Given the description of an element on the screen output the (x, y) to click on. 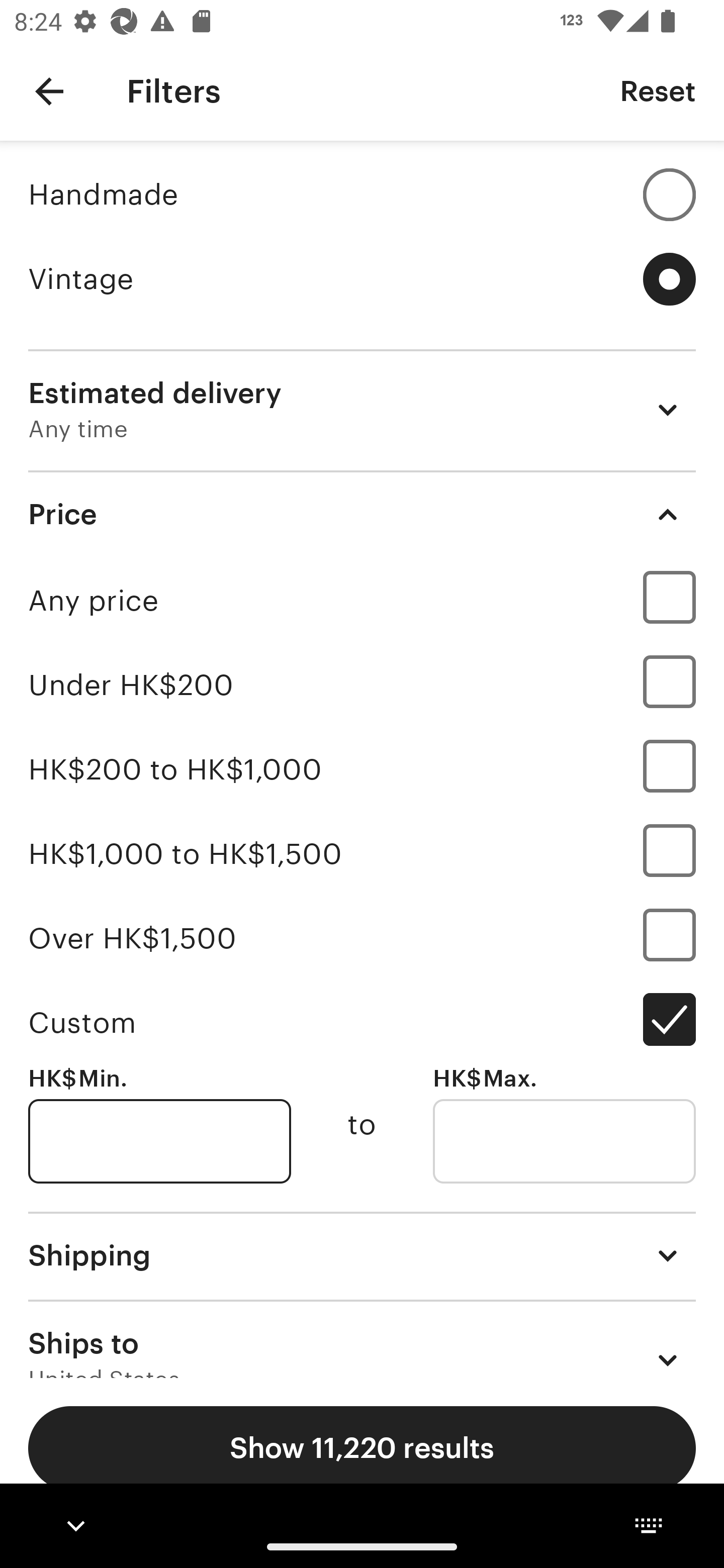
Navigate up (49, 91)
Reset (657, 90)
Handmade (362, 194)
Vintage (362, 278)
Estimated delivery Any time (362, 409)
Price (362, 514)
Any price (362, 600)
Under HK$200 (362, 684)
HK$200 to HK$1,000 (362, 769)
HK$1,000 to HK$1,500 (362, 853)
Over HK$1,500 (362, 937)
Custom (362, 1022)
Shipping (362, 1255)
Ships to United States (362, 1338)
Show 11,220 results (361, 1448)
